Given the description of an element on the screen output the (x, y) to click on. 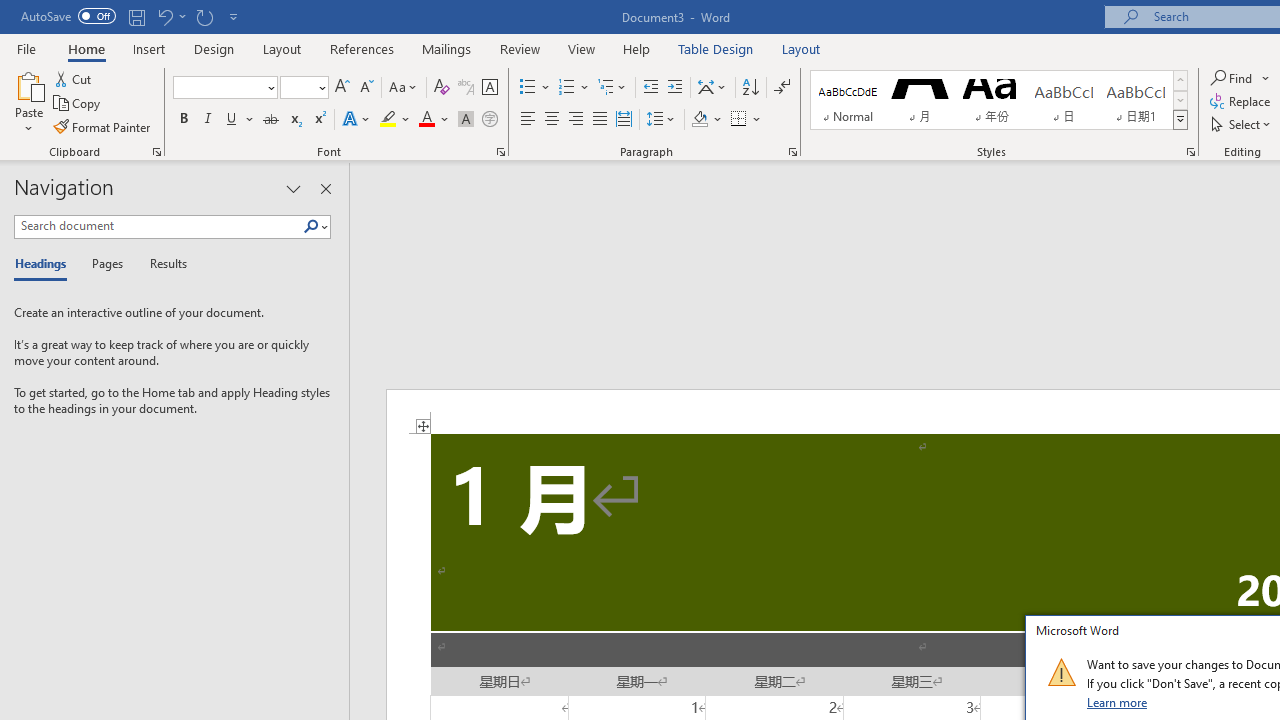
Repeat Style (204, 15)
Row Down (1179, 100)
Italic (207, 119)
Close pane (325, 188)
Subscript (294, 119)
Layout (801, 48)
Learn more (1118, 702)
Search (315, 227)
Find (1240, 78)
Sort... (750, 87)
Quick Access Toolbar (131, 16)
Row up (1179, 79)
Copy (78, 103)
Shading (706, 119)
